Given the description of an element on the screen output the (x, y) to click on. 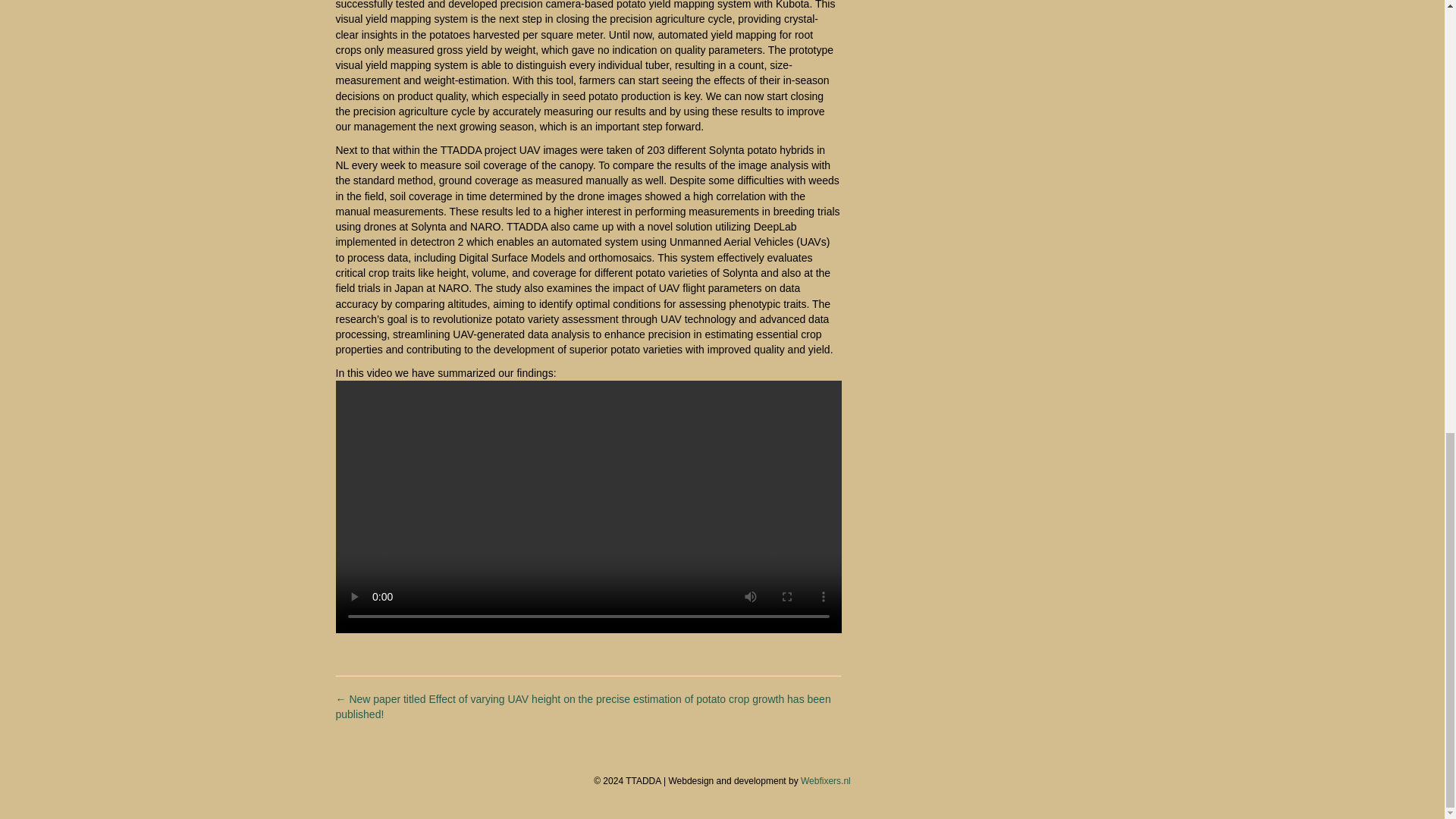
Webfixers (825, 780)
Webfixers.nl (825, 780)
